Given the description of an element on the screen output the (x, y) to click on. 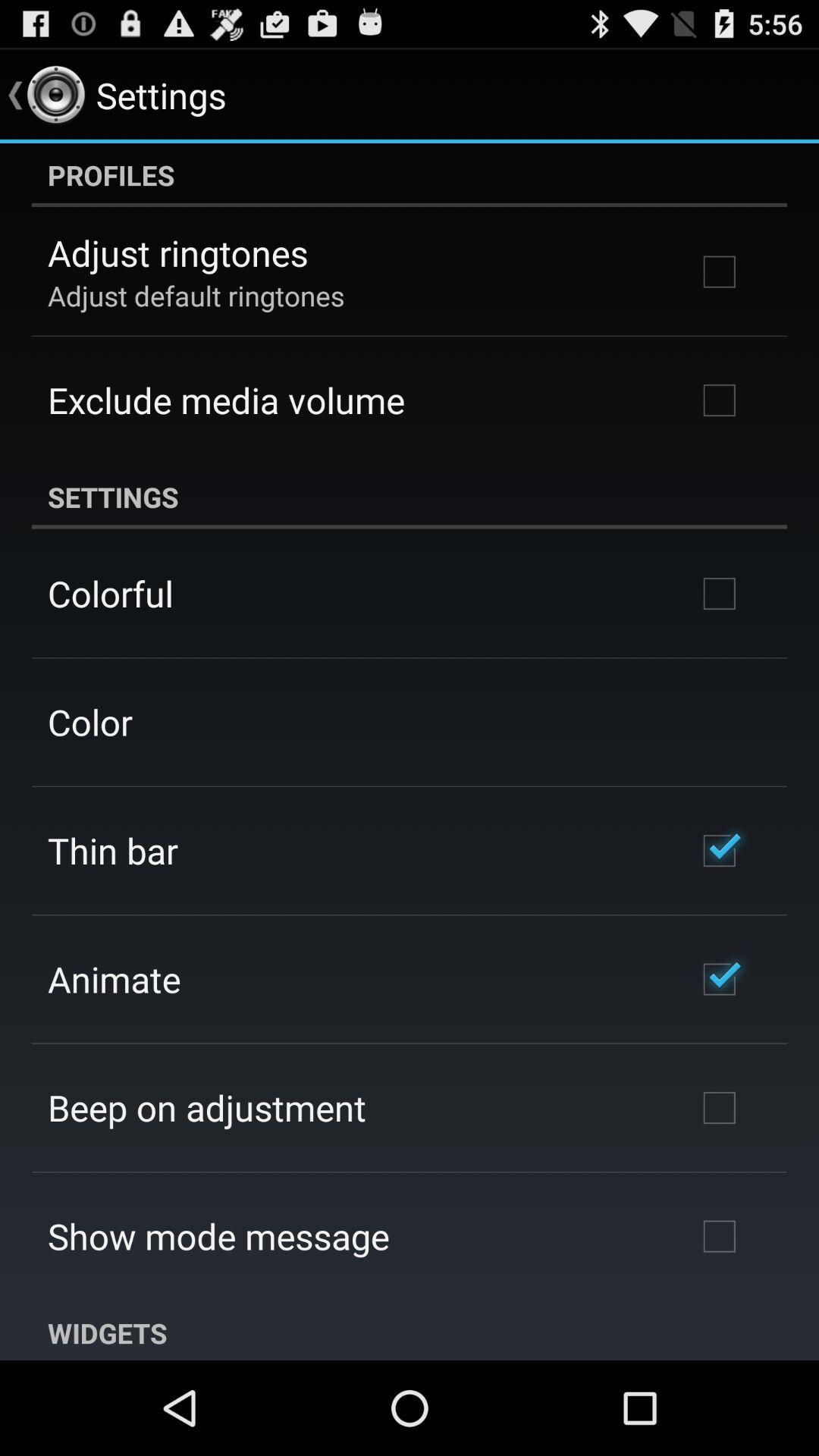
swipe to the thin bar item (112, 850)
